Given the description of an element on the screen output the (x, y) to click on. 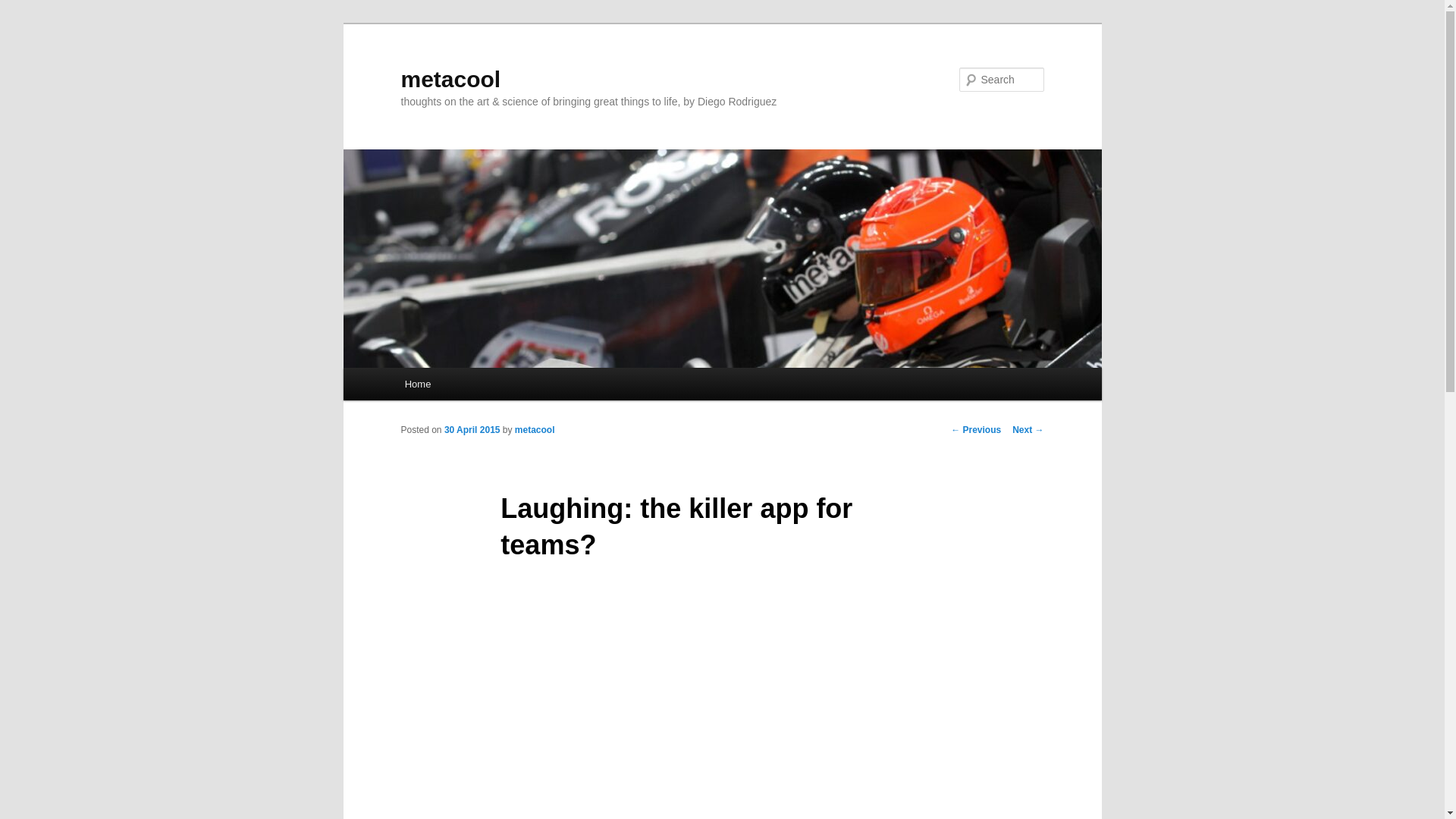
10:02 pm (472, 429)
metacool (534, 429)
Search (24, 8)
30 April 2015 (472, 429)
View all posts by metacool (534, 429)
Home (417, 383)
metacool (450, 78)
